Given the description of an element on the screen output the (x, y) to click on. 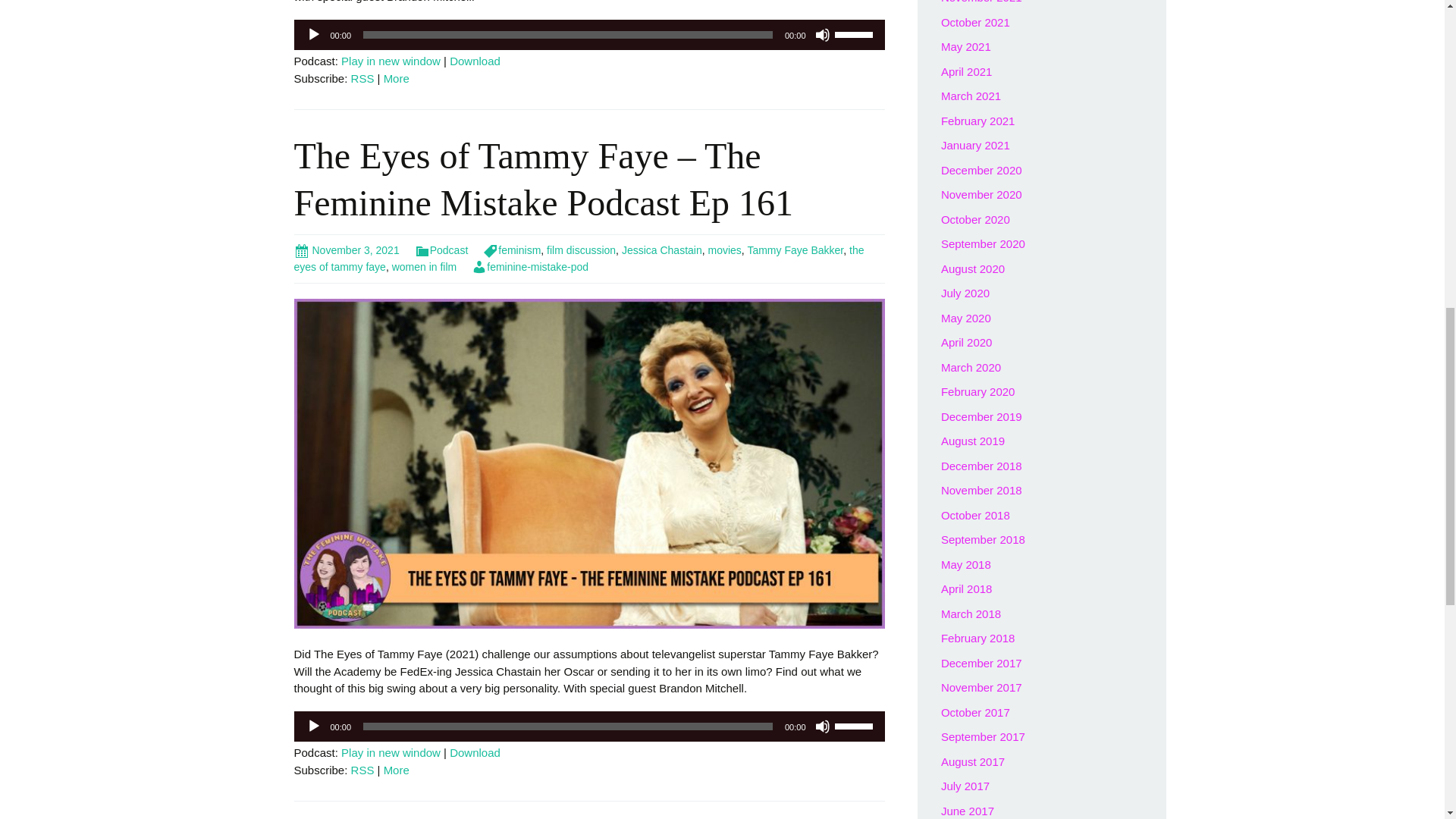
More (396, 78)
Download (474, 752)
feminism (511, 250)
movies (724, 250)
Mute (821, 726)
Play in new window (390, 752)
Podcast (441, 250)
More (396, 78)
Play in new window (390, 60)
November 3, 2021 (346, 250)
